Given the description of an element on the screen output the (x, y) to click on. 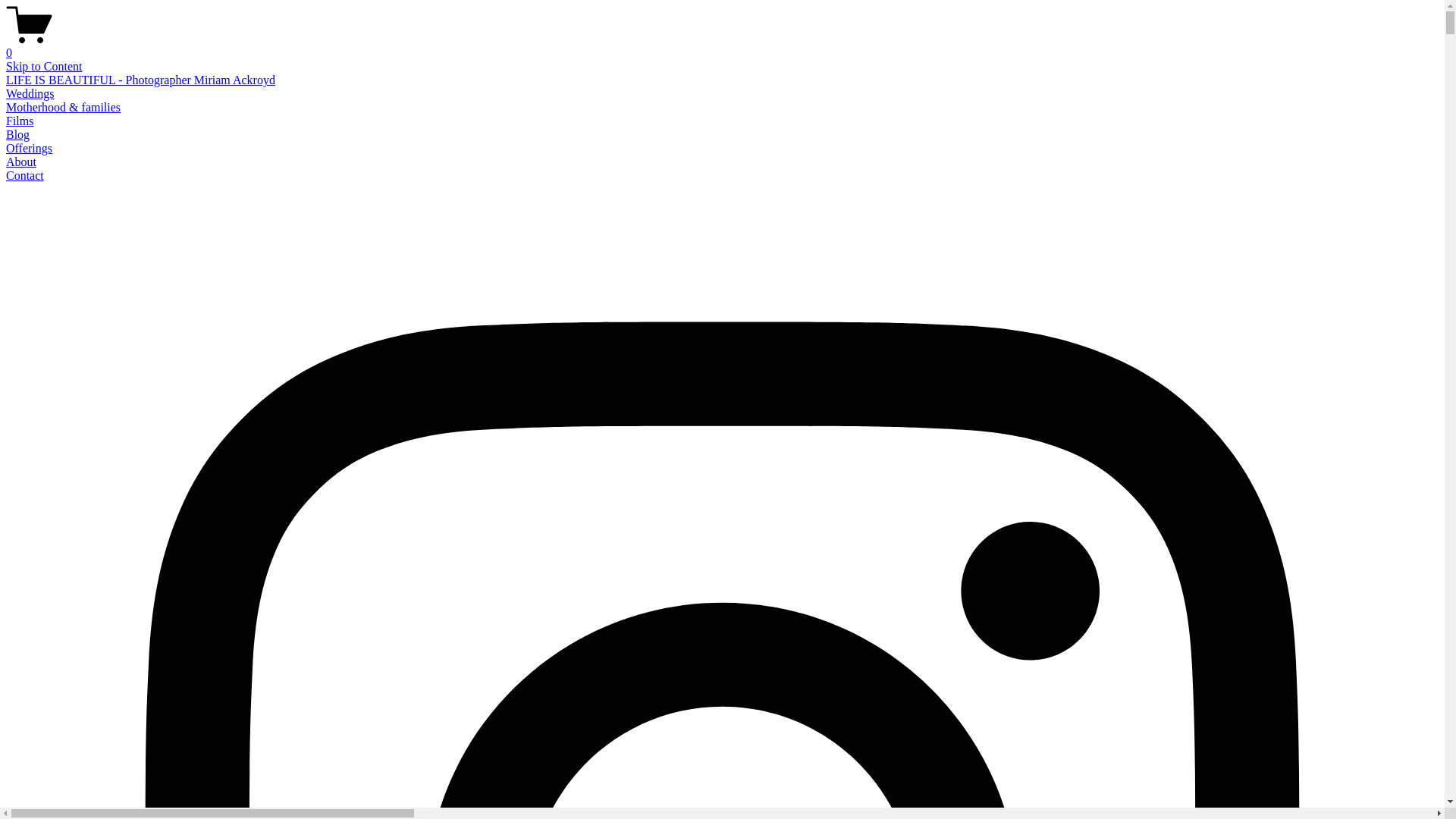
Films Element type: text (19, 120)
About Element type: text (21, 161)
LIFE IS BEAUTIFUL - Photographer Miriam Ackroyd Element type: text (140, 79)
Contact Element type: text (24, 175)
Skip to Content Element type: text (43, 65)
Blog Element type: text (17, 134)
Motherhood & families Element type: text (63, 106)
Offerings Element type: text (29, 147)
0 Element type: text (722, 45)
Weddings Element type: text (30, 93)
